Given the description of an element on the screen output the (x, y) to click on. 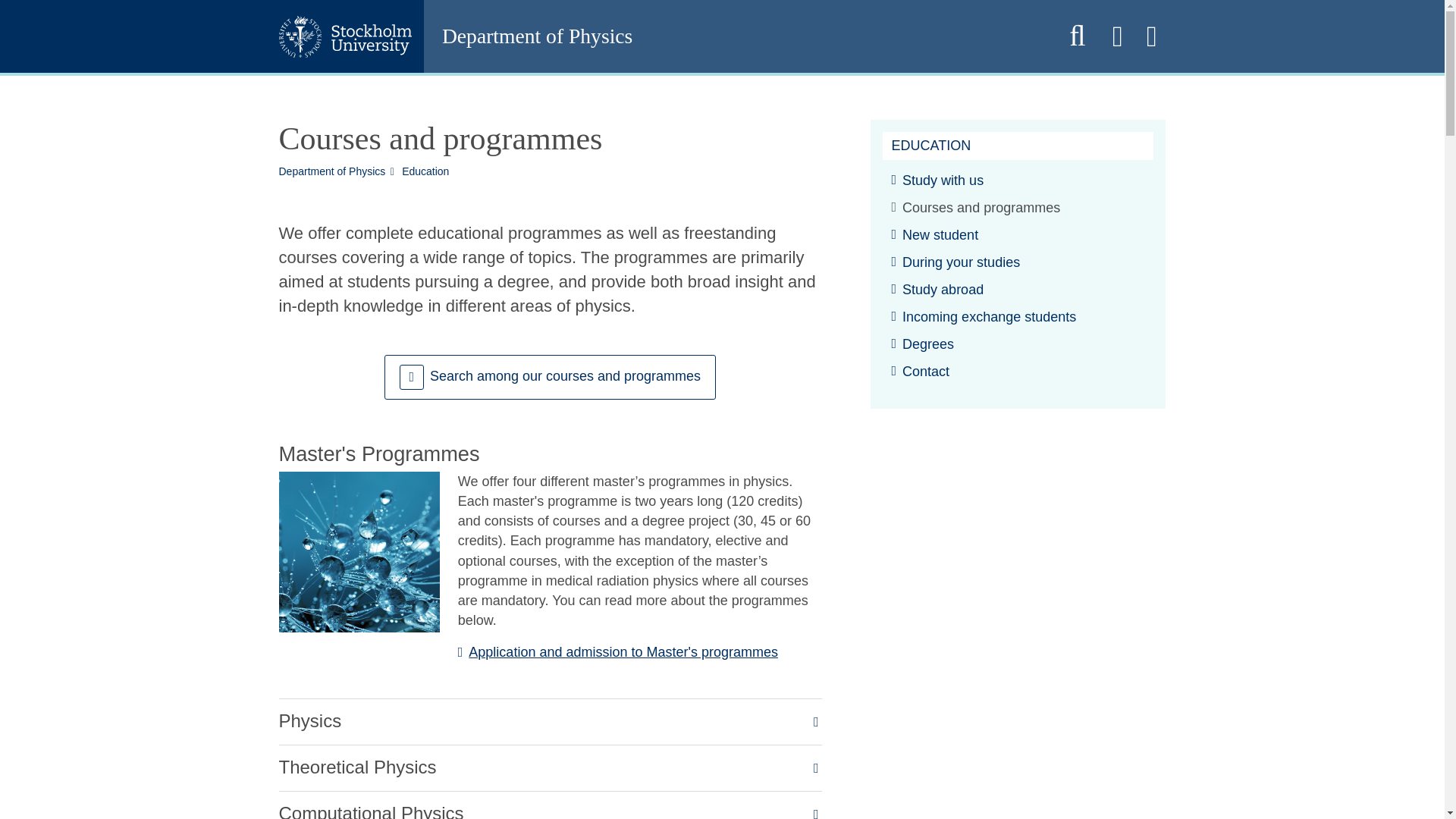
Web page home (734, 36)
Department of Physics (734, 36)
